Given the description of an element on the screen output the (x, y) to click on. 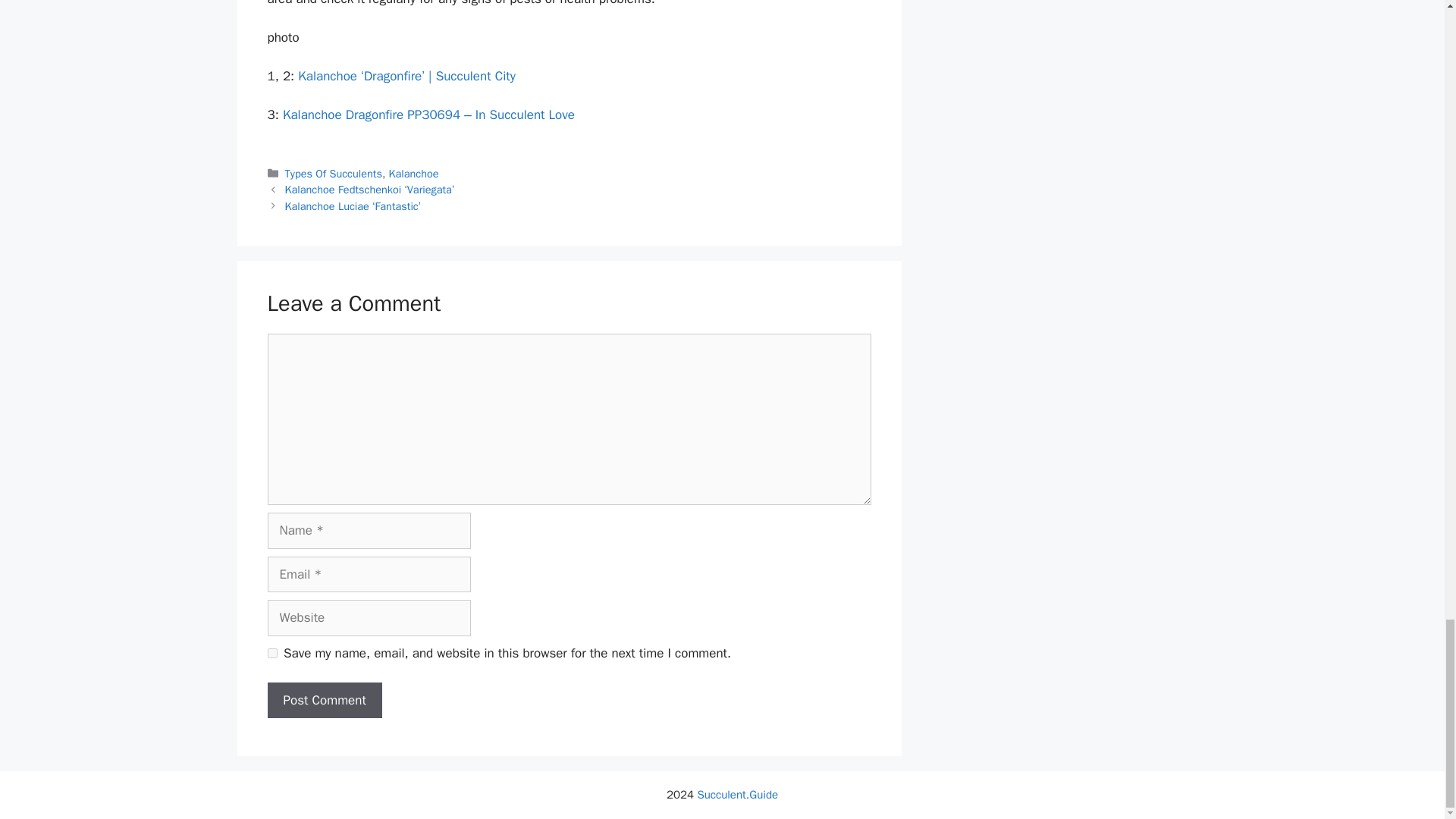
Next (352, 205)
Previous (369, 189)
yes (271, 653)
Post Comment (323, 700)
Types Of Succulents (333, 173)
Post Comment (323, 700)
Succulent.Guide (737, 794)
Kalanchoe (413, 173)
